Given the description of an element on the screen output the (x, y) to click on. 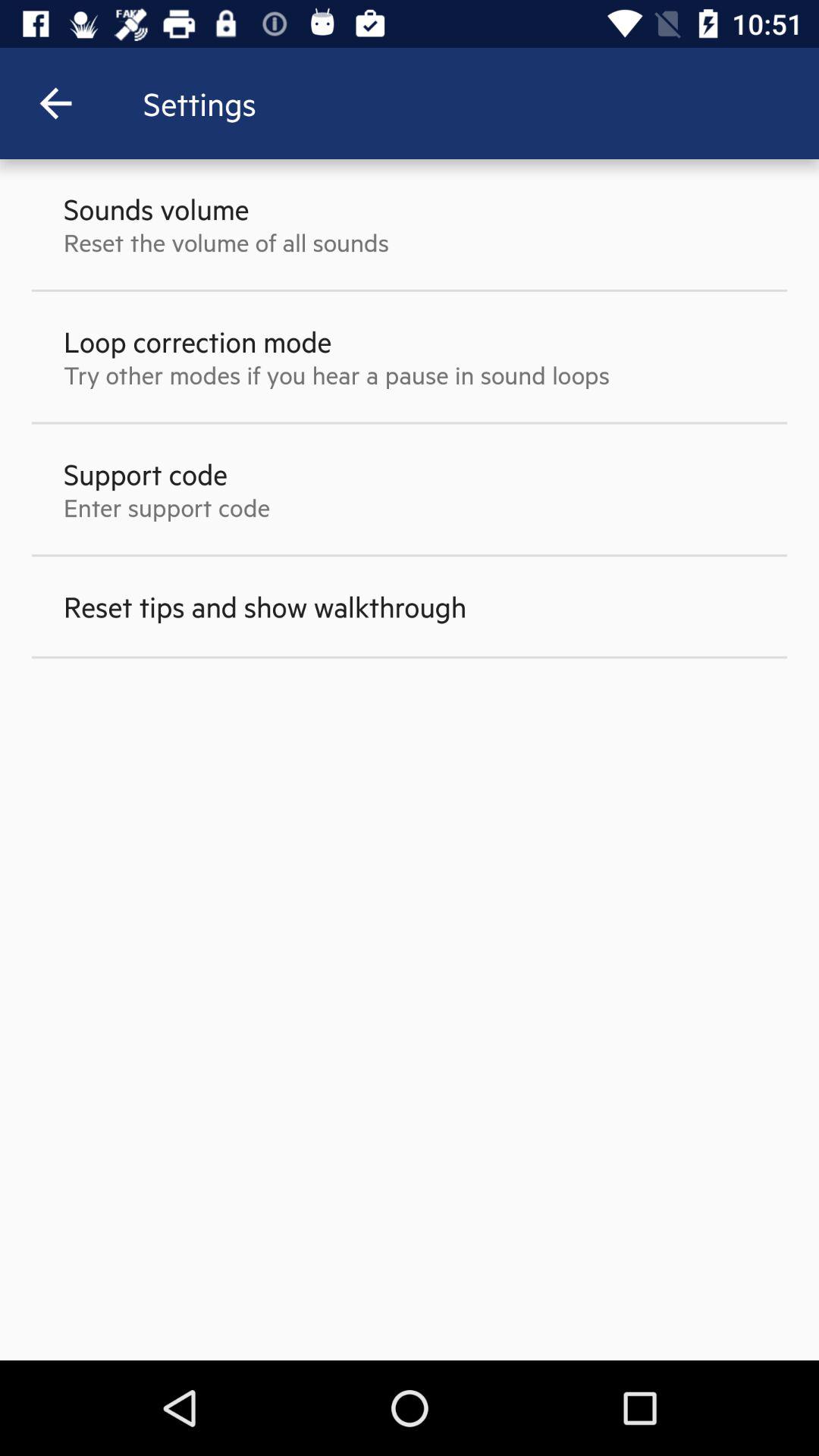
tap item below the loop correction mode item (336, 374)
